Given the description of an element on the screen output the (x, y) to click on. 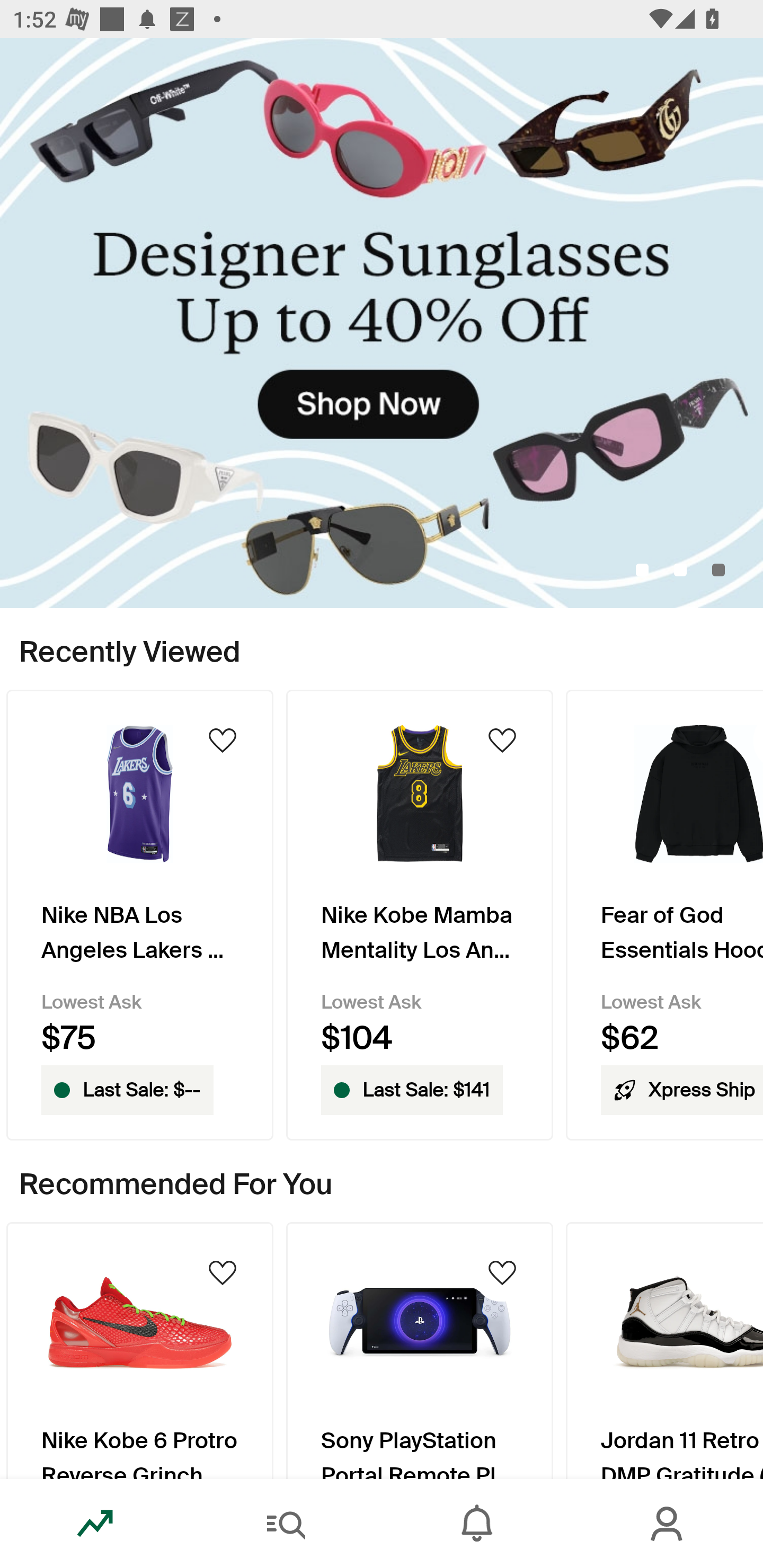
DesignerSunglassesUpto40_Off_Primary_Mobile.jpg (381, 322)
Product Image Nike Kobe 6 Protro Reverse Grinch (139, 1349)
Search (285, 1523)
Inbox (476, 1523)
Account (667, 1523)
